Given the description of an element on the screen output the (x, y) to click on. 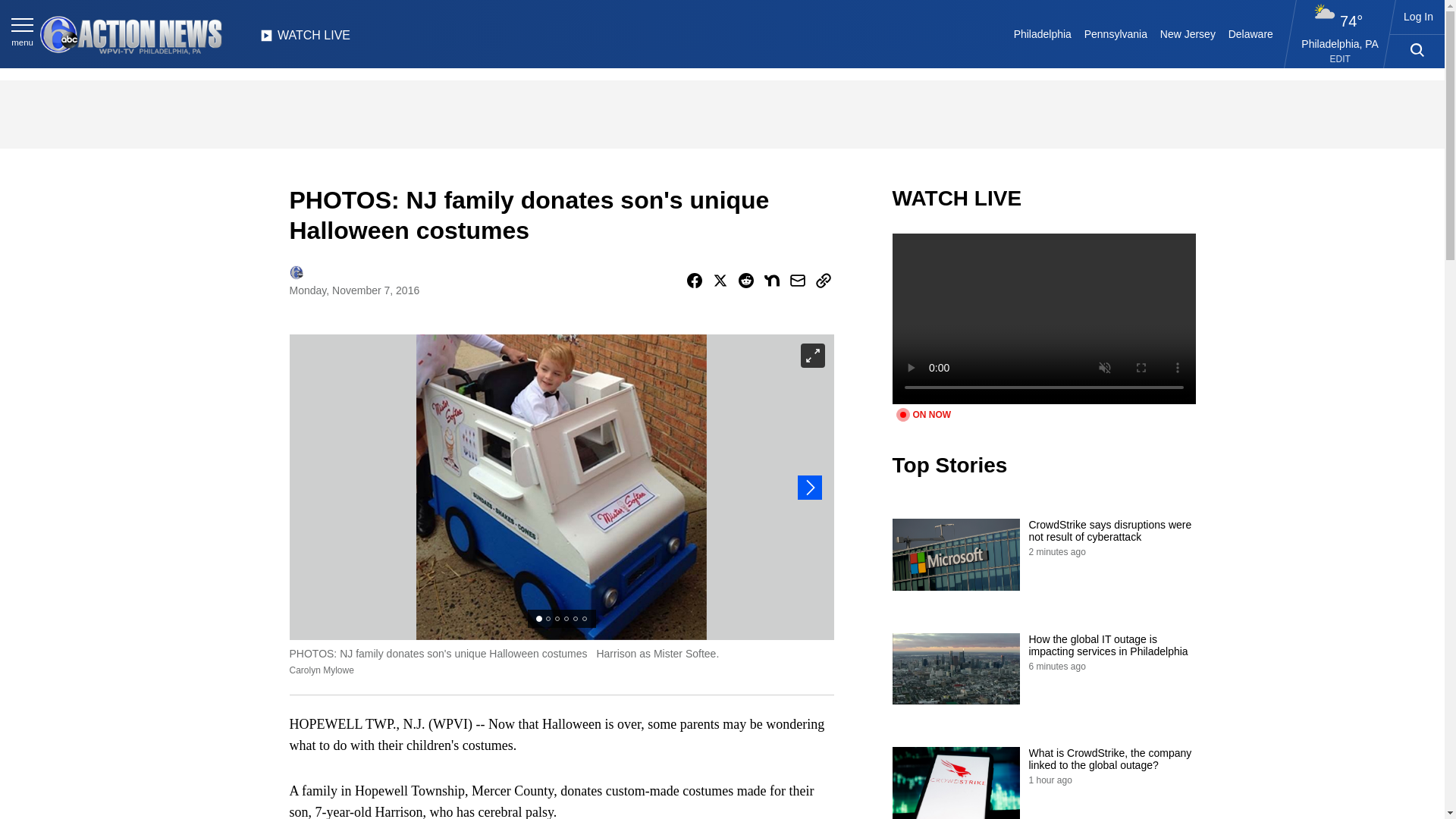
Delaware (1250, 33)
EDIT (1340, 59)
Pennsylvania (1115, 33)
WATCH LIVE (305, 39)
Philadelphia (1042, 33)
Philadelphia, PA (1339, 43)
video.title (1043, 318)
New Jersey (1187, 33)
